Given the description of an element on the screen output the (x, y) to click on. 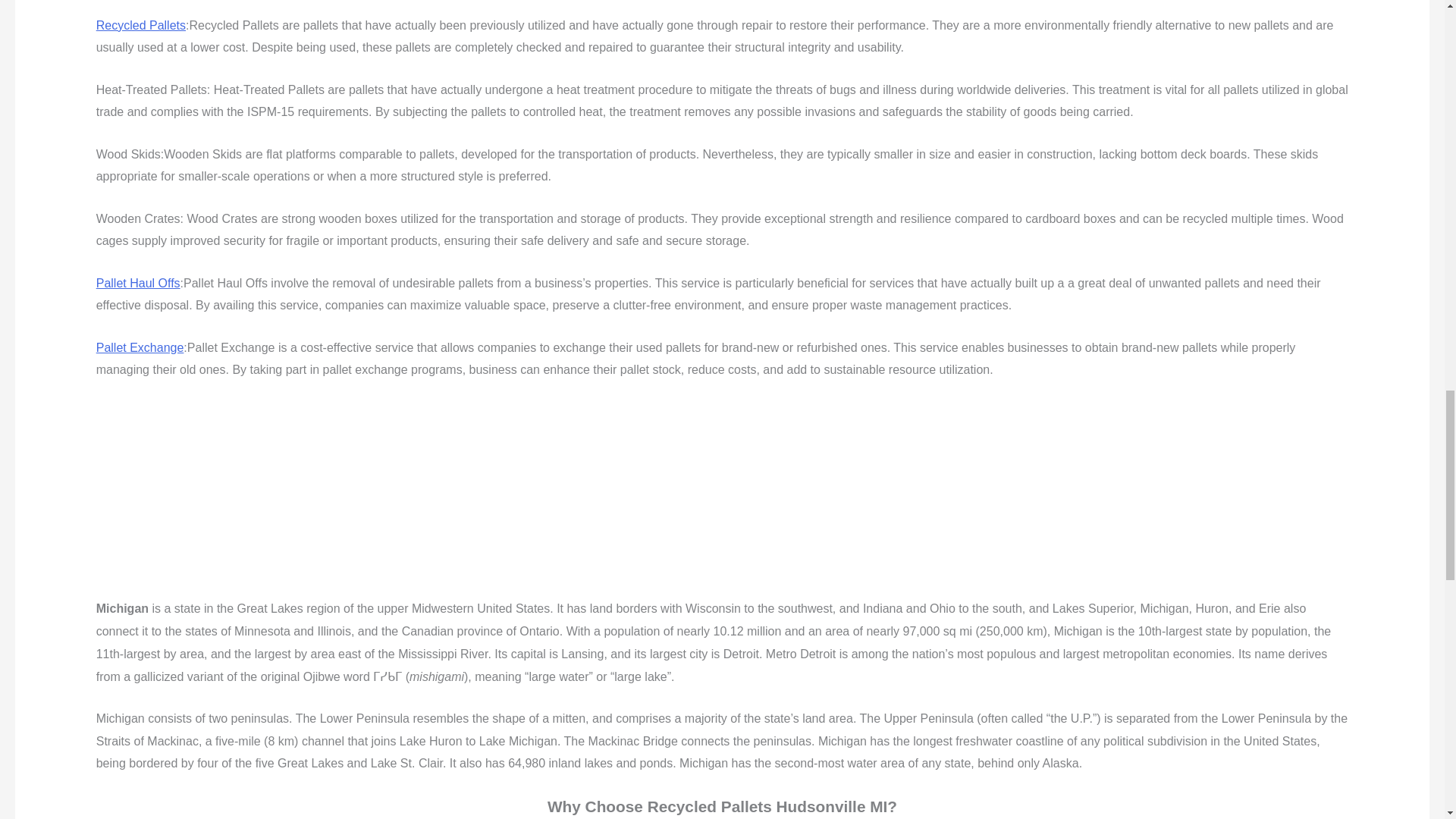
Recycled Pallets (141, 24)
Ojibwe-language text (386, 676)
Pallet Exchange (140, 347)
Pallet Haul Offs (138, 282)
Ojibwe-language romanization (436, 676)
